Given the description of an element on the screen output the (x, y) to click on. 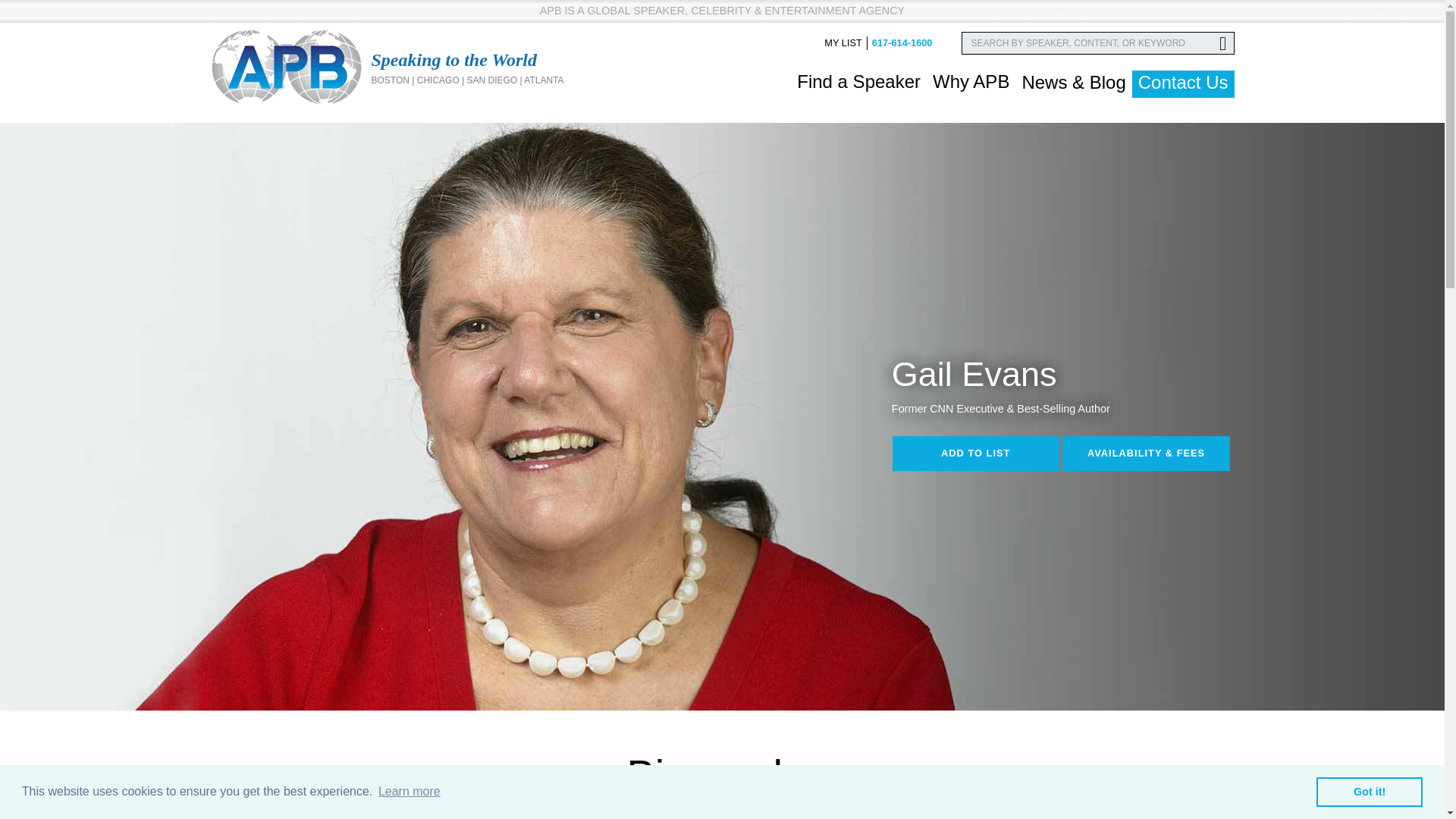
Find a Speaker (858, 82)
Why APB (970, 82)
Learn more (408, 791)
Contact Us (1183, 83)
Got it! (1369, 791)
ADD TO LIST (975, 453)
MY LIST (842, 42)
617-614-1600 (902, 42)
